Given the description of an element on the screen output the (x, y) to click on. 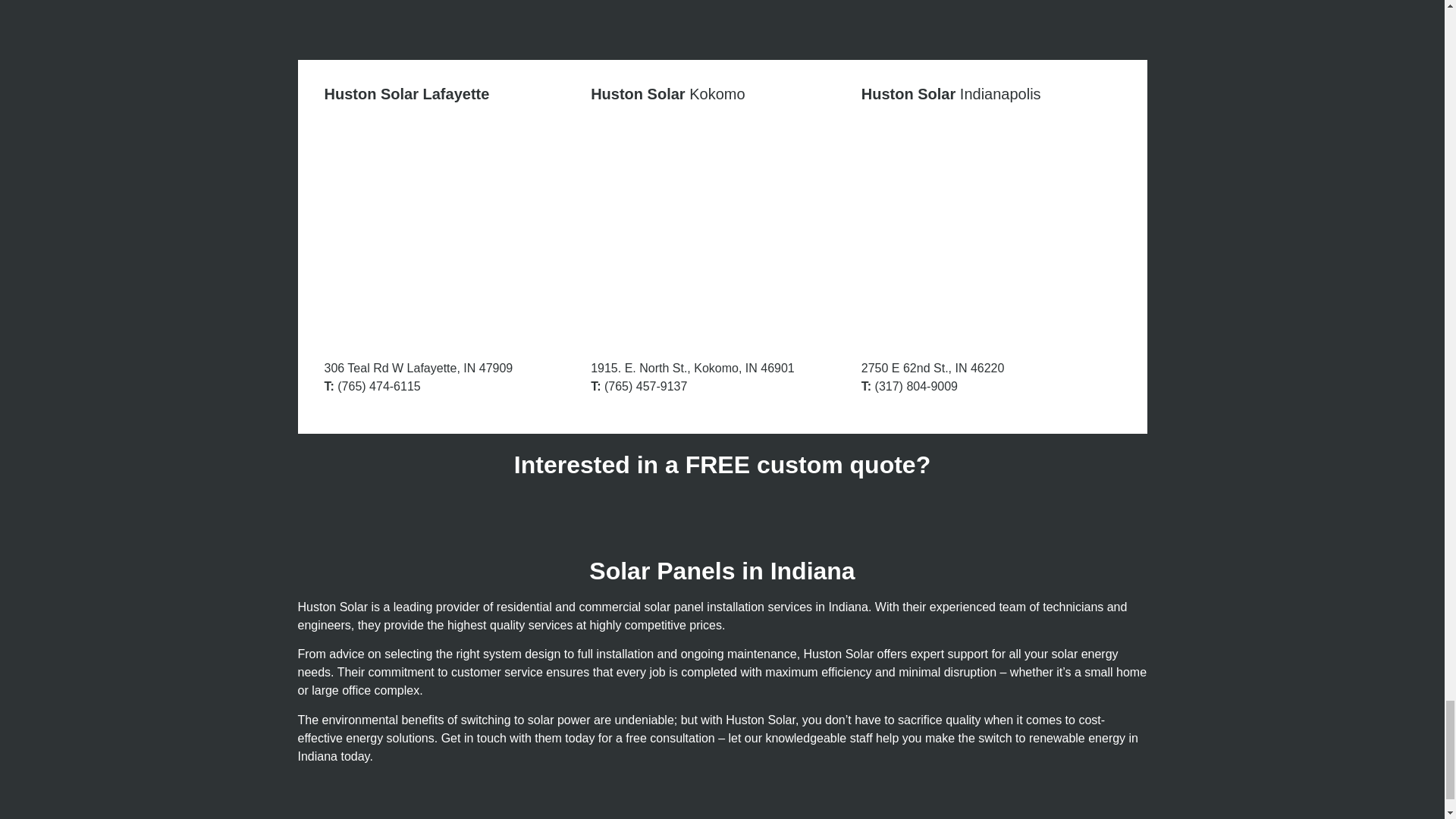
1915. E. North St., Kokomo, IN 46901 (722, 230)
Submit (355, 17)
306 Teal Rd W Lafayette, IN 47909 (453, 230)
2750 E 62nd St.. Westfield, IN 46220 (991, 230)
